Given the description of an element on the screen output the (x, y) to click on. 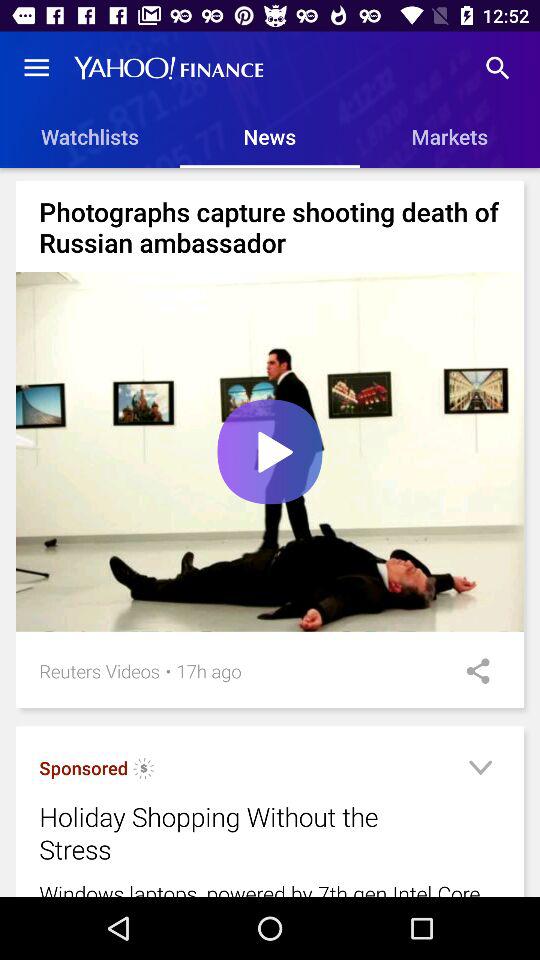
scroll to windows laptops powered item (269, 887)
